Given the description of an element on the screen output the (x, y) to click on. 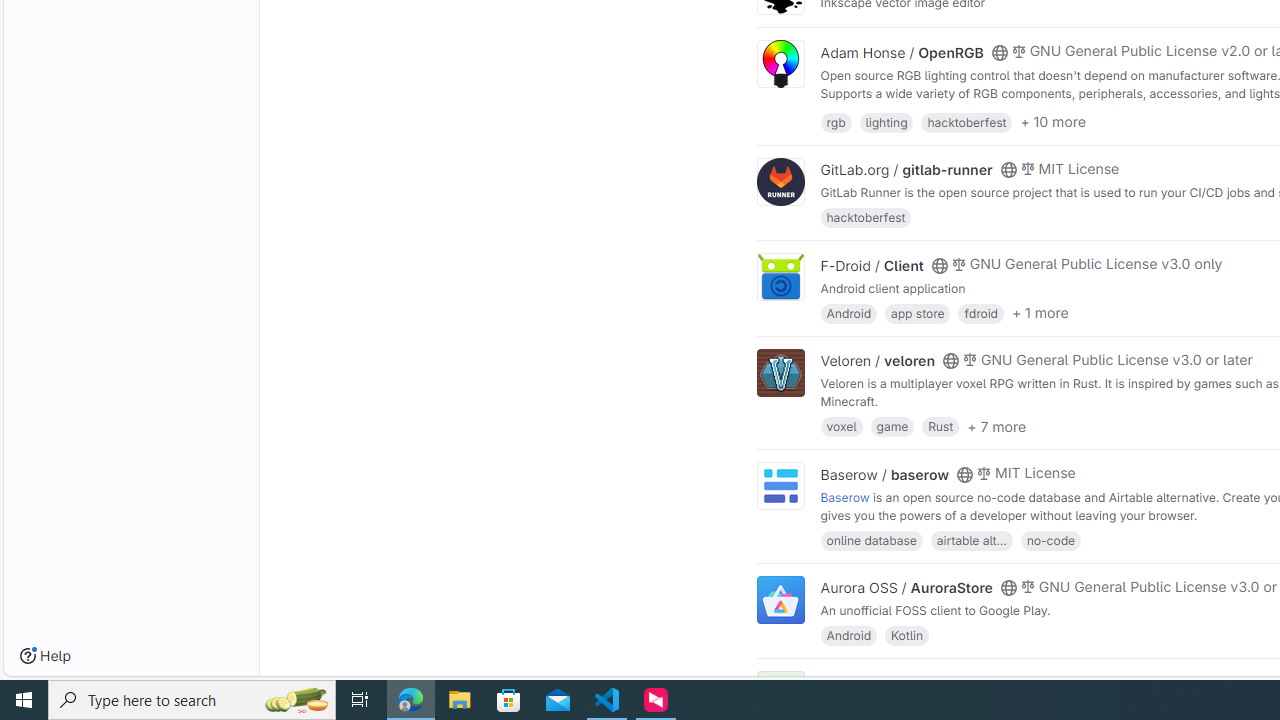
+ 1 more (1039, 313)
fdroid (980, 312)
lighting (886, 120)
hacktoberfest (866, 217)
Class: s16 (999, 683)
rgb (836, 120)
https://openrgb.org (989, 110)
voxel (841, 426)
F (780, 695)
online database (871, 539)
no-code (1050, 539)
Edouard Klein / falsisign (902, 682)
app store (917, 312)
F-Droid / Client (872, 265)
Class: project (780, 599)
